Given the description of an element on the screen output the (x, y) to click on. 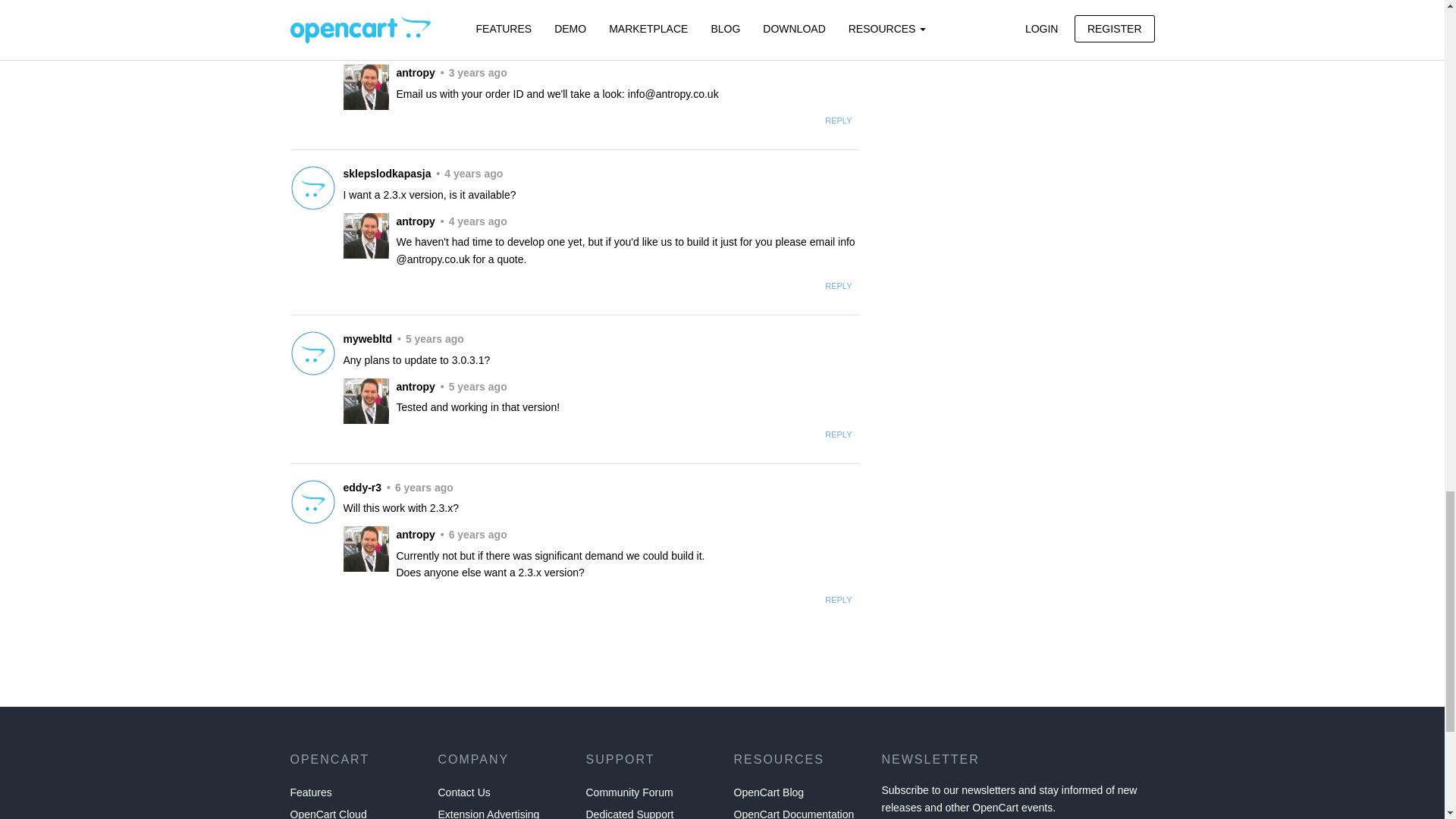
sklepslodkapasja (311, 187)
antropy (365, 401)
antropy (365, 235)
antropy (365, 548)
ThePlateGram (311, 6)
antropy (365, 86)
eddy-r3 (311, 501)
mywebltd (311, 352)
